Given the description of an element on the screen output the (x, y) to click on. 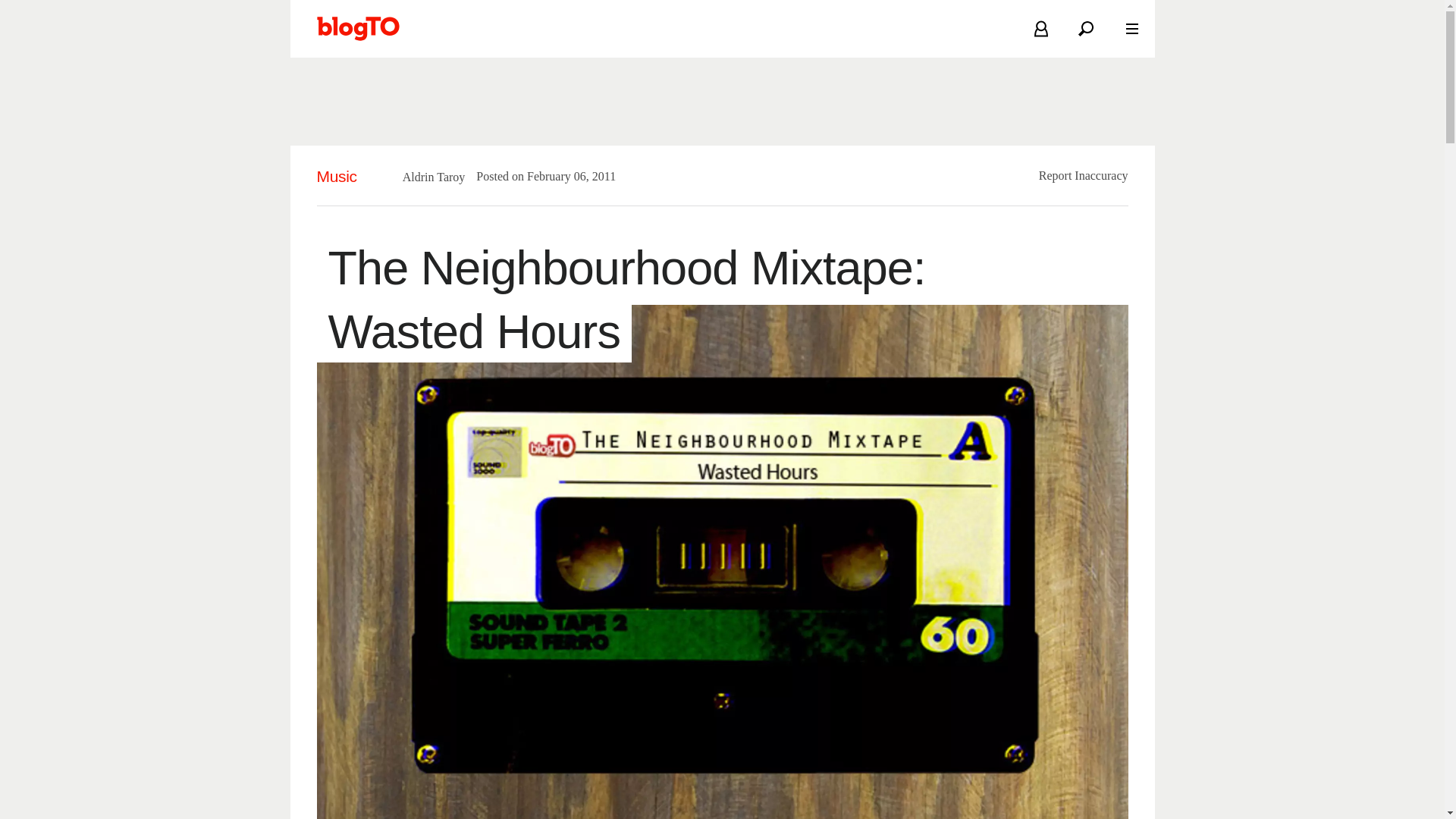
3rd party ad content (721, 101)
2011-02-06T02:10:00 (563, 175)
